Given the description of an element on the screen output the (x, y) to click on. 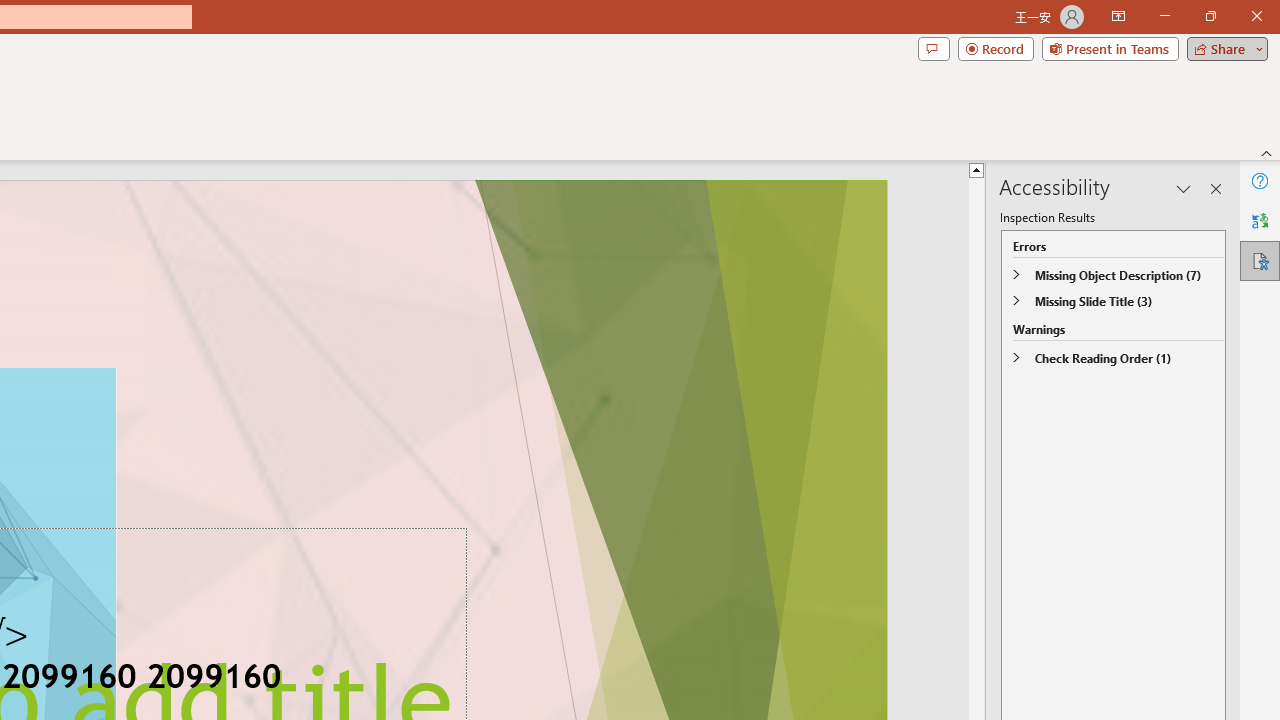
Accessibility (1260, 260)
Present in Teams (1109, 48)
Line up (976, 169)
Translator (1260, 220)
Close pane (1215, 188)
Restore Down (1210, 16)
Collapse the Ribbon (1267, 152)
Ribbon Display Options (1118, 16)
Minimize (1164, 16)
Share (1223, 48)
